Given the description of an element on the screen output the (x, y) to click on. 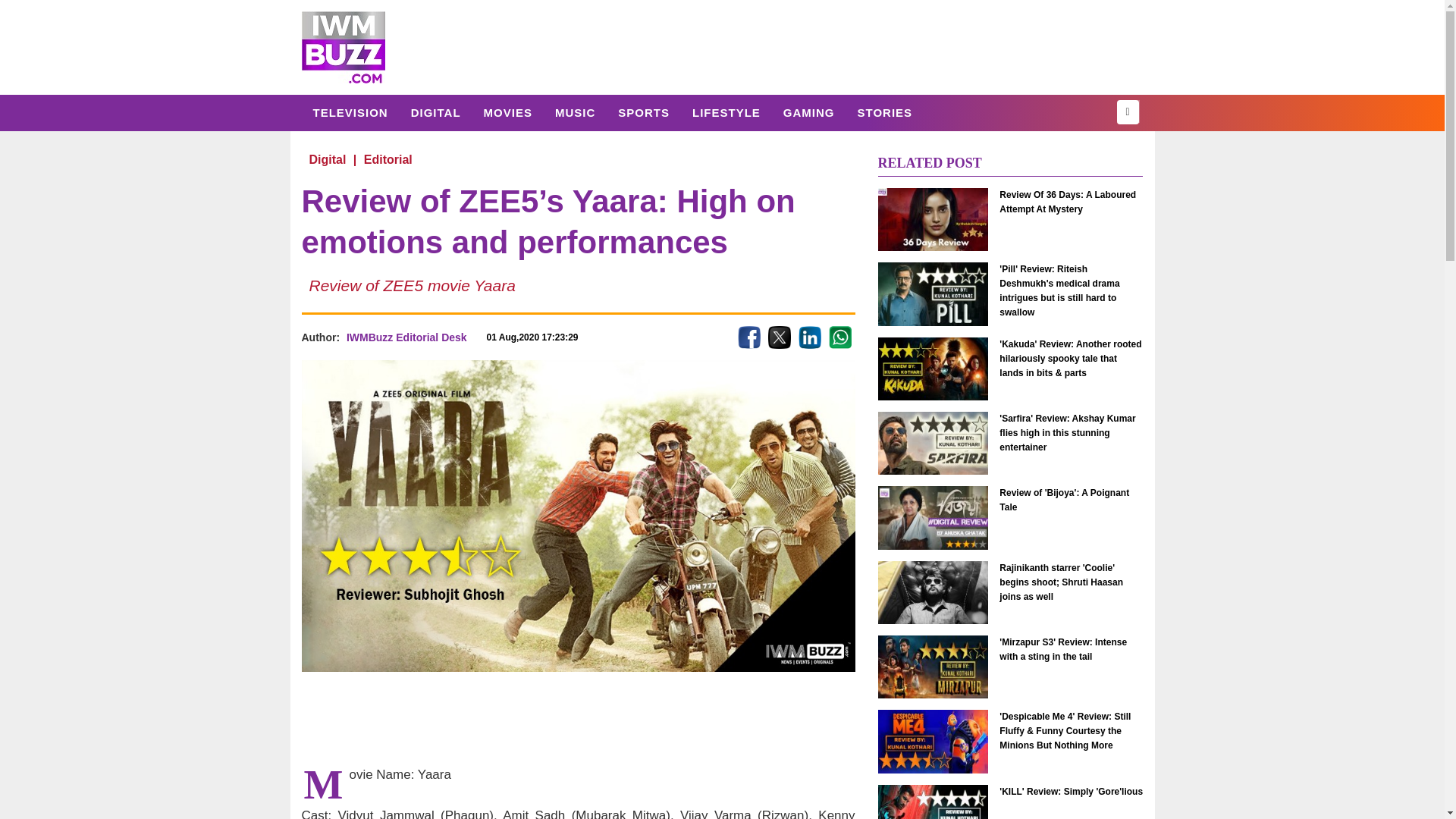
Digital (326, 159)
Review Of 36 Days: A Laboured Attempt At Mystery (932, 219)
SPORTS (644, 112)
Movies (507, 112)
3rd party ad content (577, 717)
MUSIC (575, 112)
STORIES (884, 112)
DIGITAL (434, 112)
LIFESTYLE (726, 112)
TELEVISION (349, 112)
IWMBuzz Editorial Desk (406, 337)
Editorial (387, 159)
Review of 'Bijoya': A Poignant Tale (1070, 500)
Review Of 36 Days: A Laboured Attempt At Mystery (1070, 202)
